Given the description of an element on the screen output the (x, y) to click on. 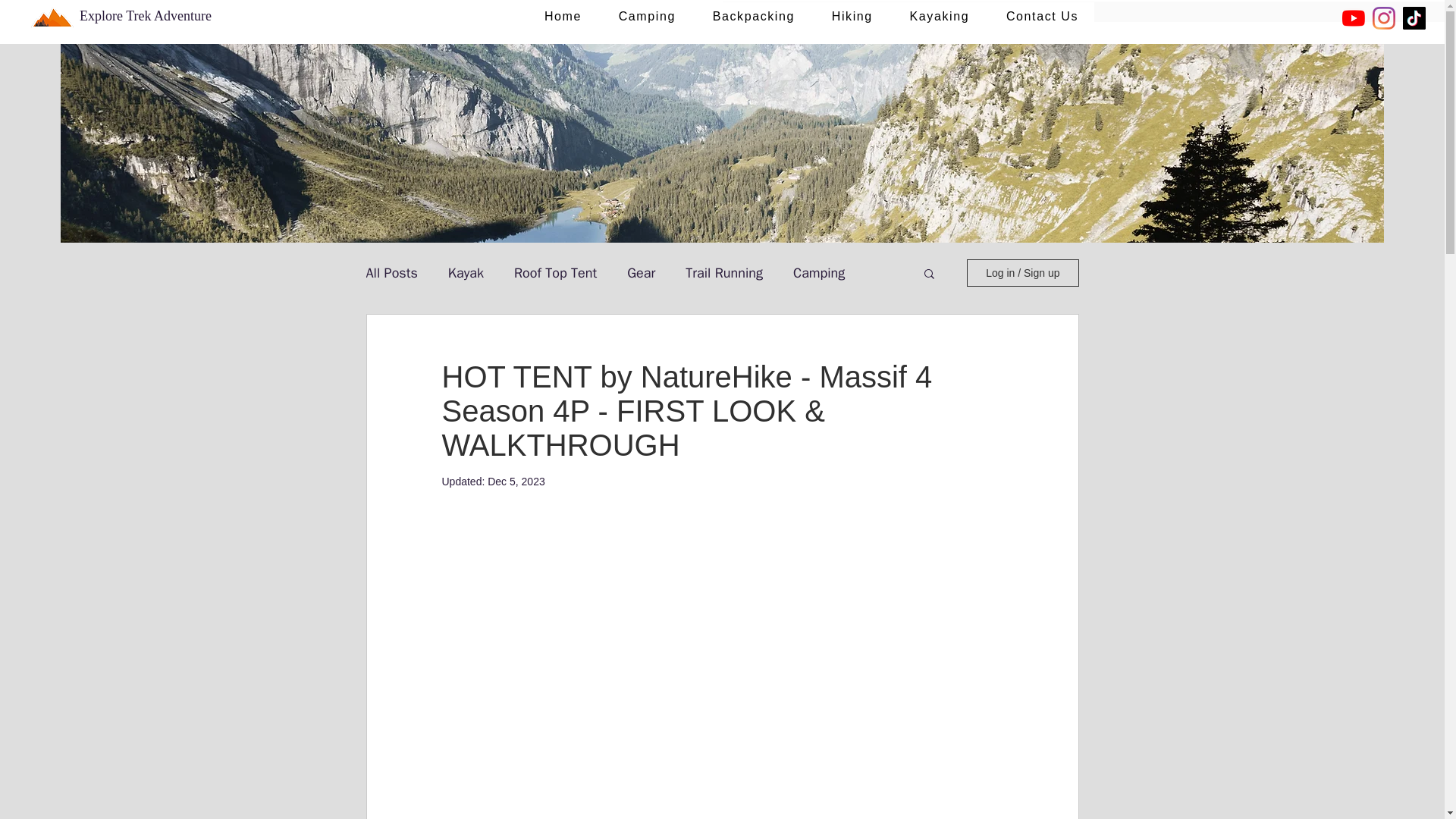
Home (562, 17)
Dec 5, 2023 (515, 481)
Explore Trek Adventure (145, 15)
